Given the description of an element on the screen output the (x, y) to click on. 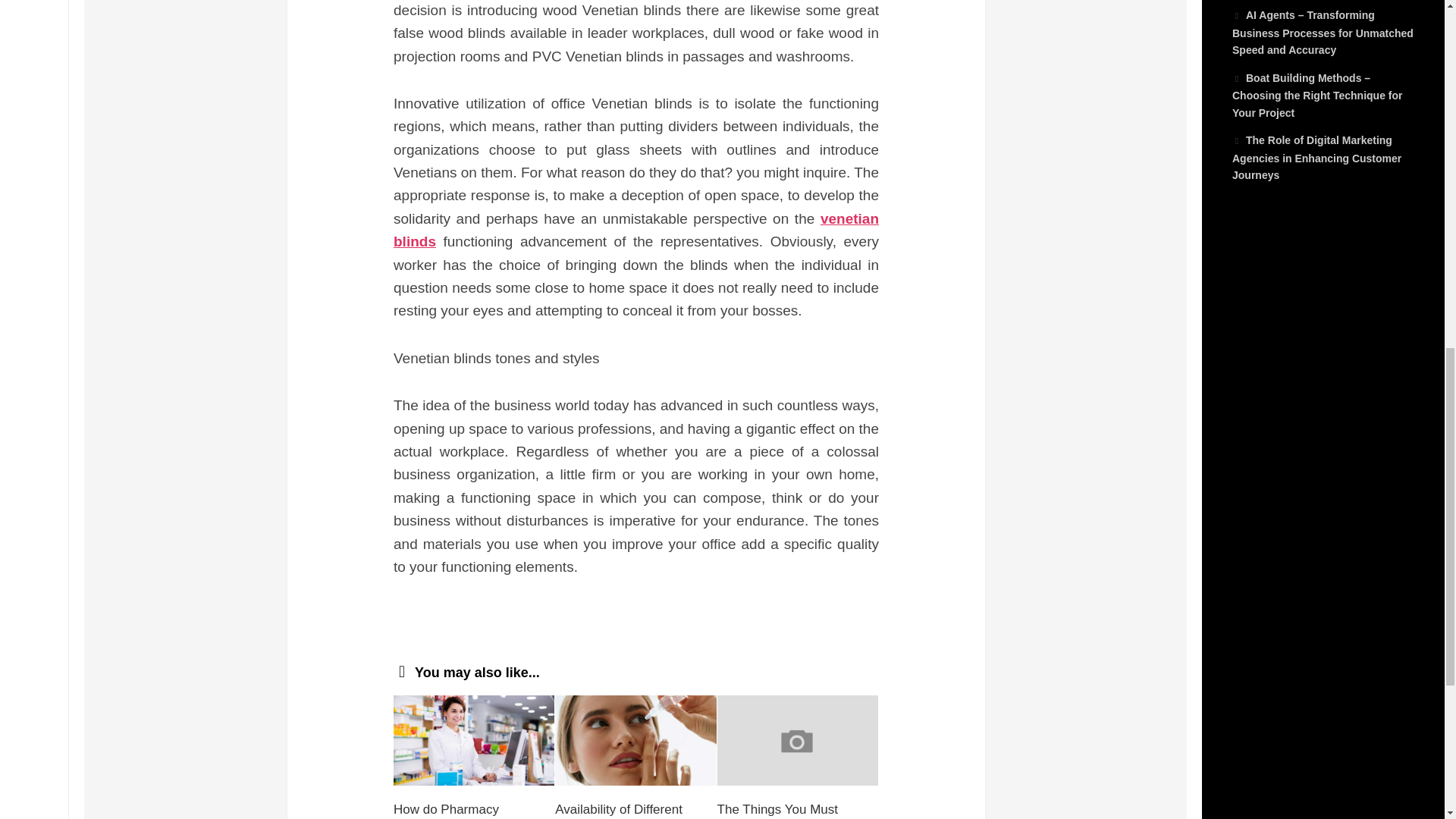
The Things You Must Need To Know About Window Blinds (777, 810)
venetian blinds (636, 229)
